Given the description of an element on the screen output the (x, y) to click on. 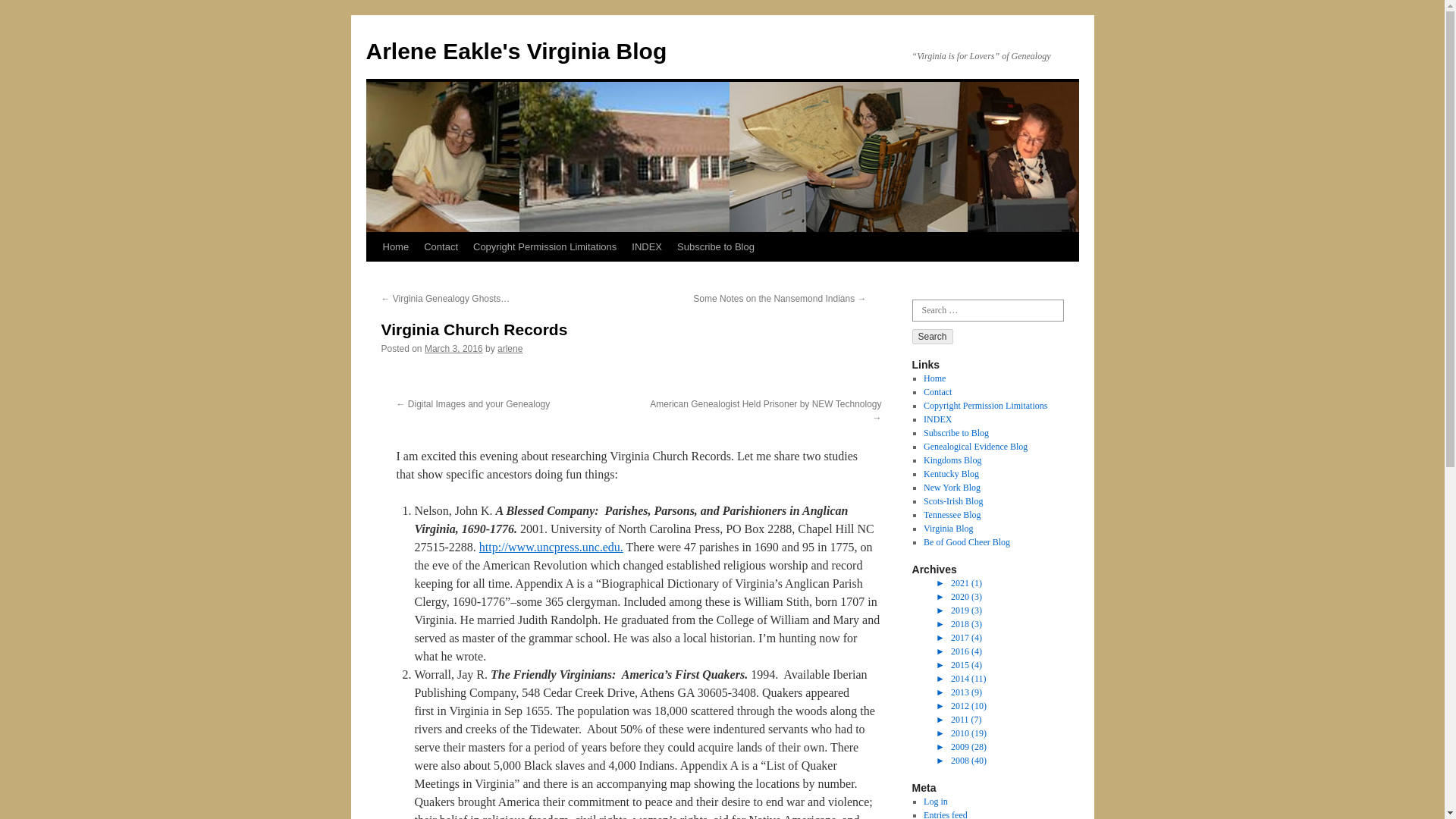
Subscribe to Blog (955, 432)
View all posts by arlene (509, 348)
Home (933, 378)
Genealogical Evidence Blog (975, 446)
INDEX (646, 246)
March 3, 2016 (454, 348)
New York Blog (951, 487)
Copyright Permission Limitations (984, 405)
2020 (958, 596)
Scots-Irish Blog (952, 501)
